Given the description of an element on the screen output the (x, y) to click on. 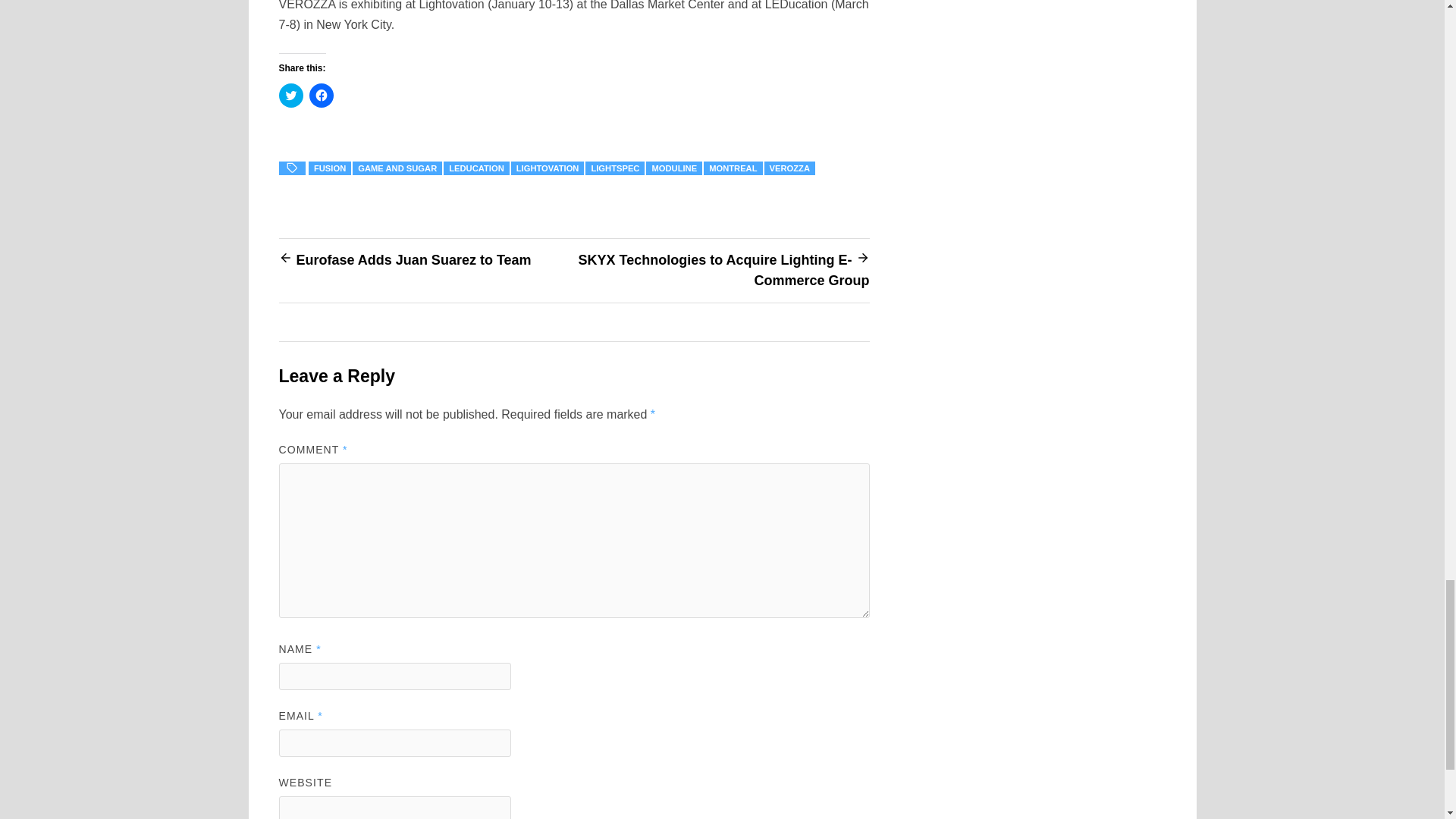
SKYX Technologies to Acquire Lighting E-Commerce Group (723, 270)
VEROZZA (789, 168)
MODULINE (673, 168)
FUSION (329, 168)
GAME AND SUGAR (397, 168)
LEDUCATION (476, 168)
Click to share on Twitter (290, 95)
LIGHTSPEC (615, 168)
Click to share on Facebook (320, 95)
LIGHTOVATION (548, 168)
Eurofase Adds Juan Suarez to Team (413, 259)
MONTREAL (732, 168)
